Given the description of an element on the screen output the (x, y) to click on. 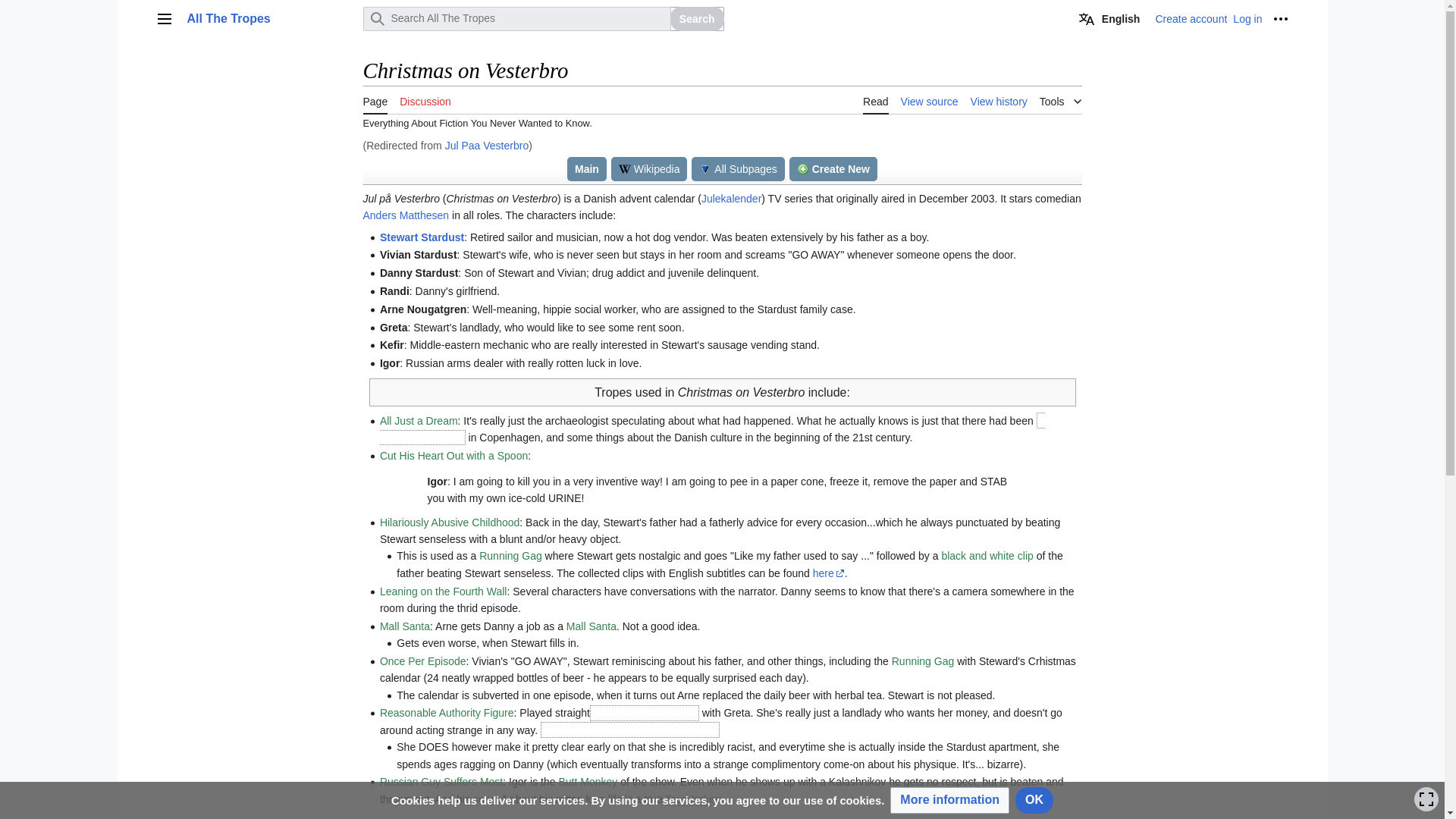
View source (929, 100)
All The Tropes (270, 18)
English (1110, 18)
Discussion (424, 100)
Create account (1190, 19)
Read (875, 100)
Search (696, 18)
Log in (1247, 19)
More options (1280, 18)
Page (374, 100)
View history (999, 100)
